Given the description of an element on the screen output the (x, y) to click on. 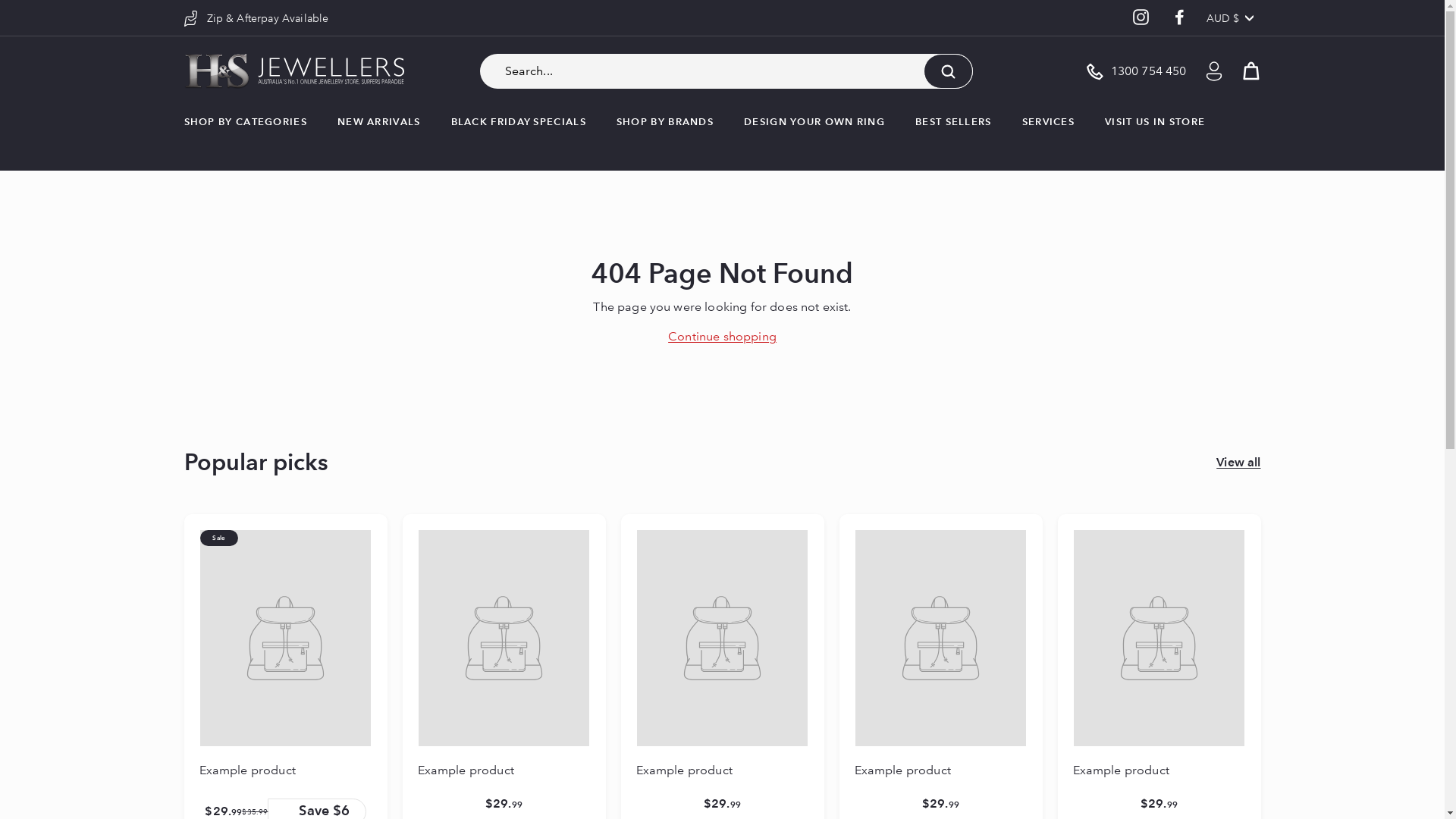
BEST SELLERS Element type: text (953, 122)
View all Element type: text (1238, 462)
DESIGN YOUR OWN RING Element type: text (814, 122)
Skip to content Element type: text (0, 0)
NEW ARRIVALS Element type: text (379, 122)
BLACK FRIDAY SPECIALS Element type: text (518, 122)
1300 754 450 Element type: text (1135, 71)
SERVICES Element type: text (1048, 122)
Facebook Element type: text (1179, 18)
VISIT US IN STORE Element type: text (1154, 122)
AUD $ Element type: text (1233, 18)
SHOP BY CATEGORIES Element type: text (244, 122)
Continue shopping Element type: text (722, 336)
SHOP BY BRANDS Element type: text (664, 122)
Instagram Element type: text (1140, 18)
